Given the description of an element on the screen output the (x, y) to click on. 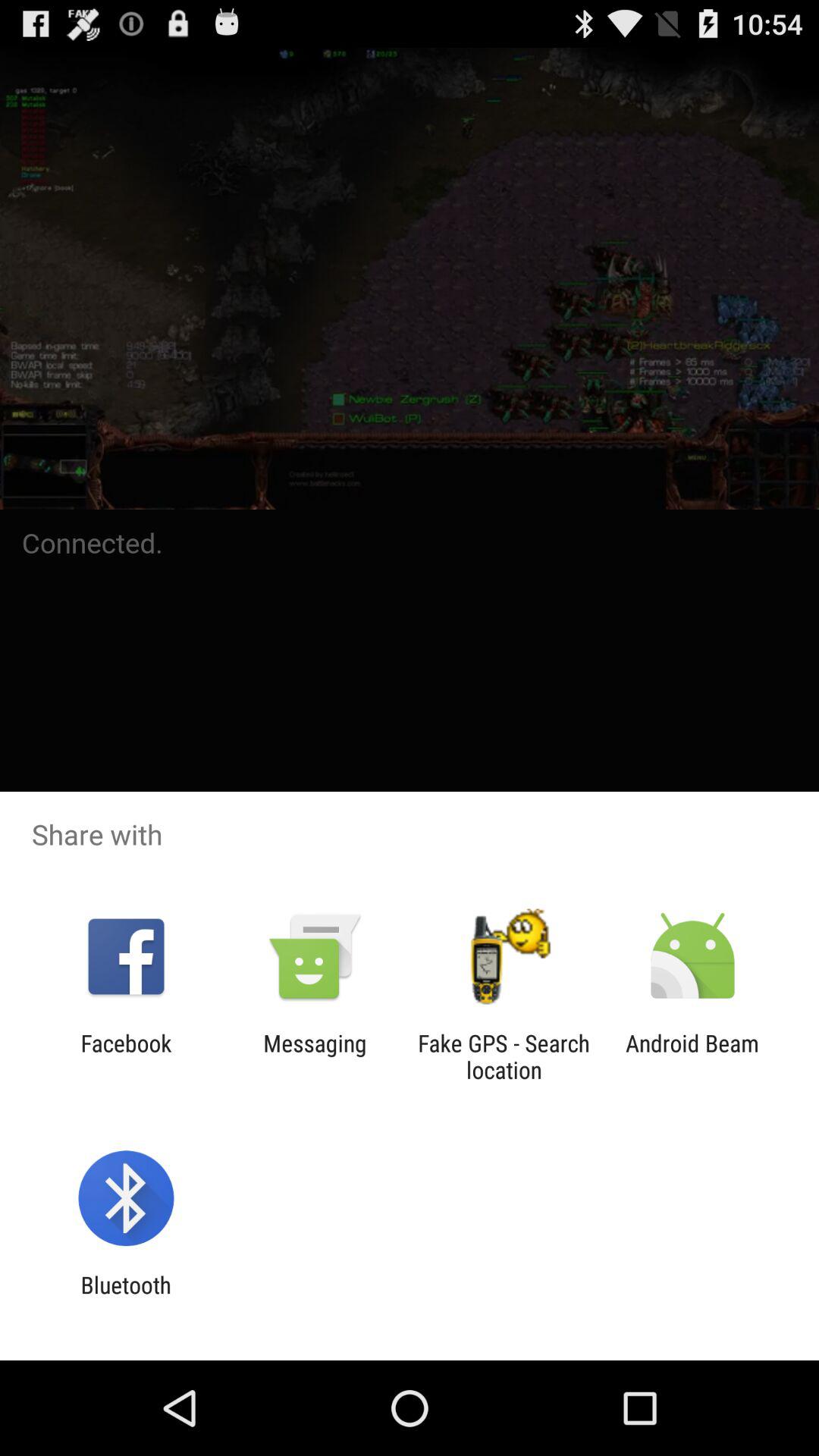
choose the icon next to facebook item (314, 1056)
